Given the description of an element on the screen output the (x, y) to click on. 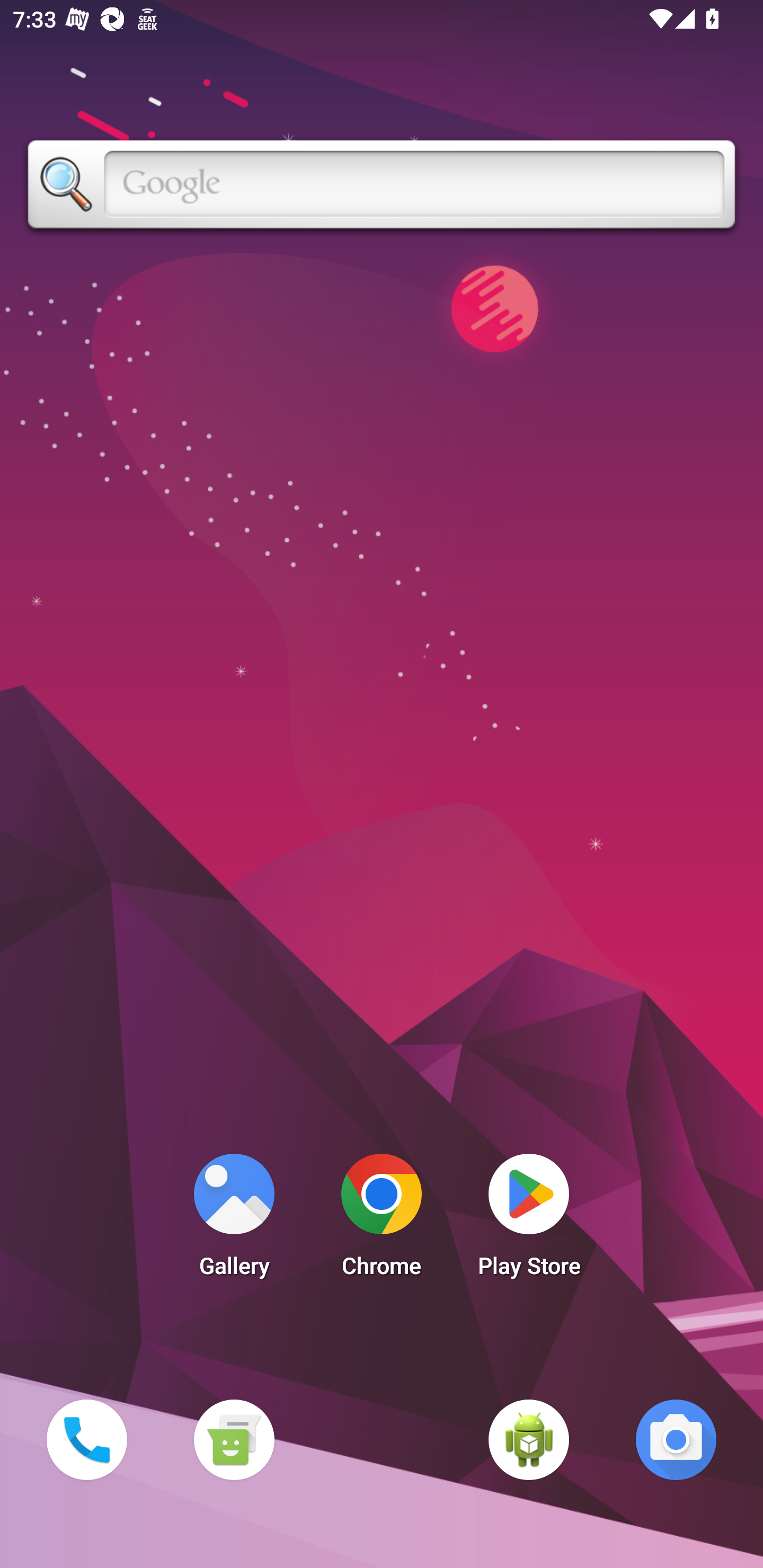
Gallery (233, 1220)
Chrome (381, 1220)
Play Store (528, 1220)
Phone (86, 1439)
Messaging (233, 1439)
WebView Browser Tester (528, 1439)
Camera (676, 1439)
